Given the description of an element on the screen output the (x, y) to click on. 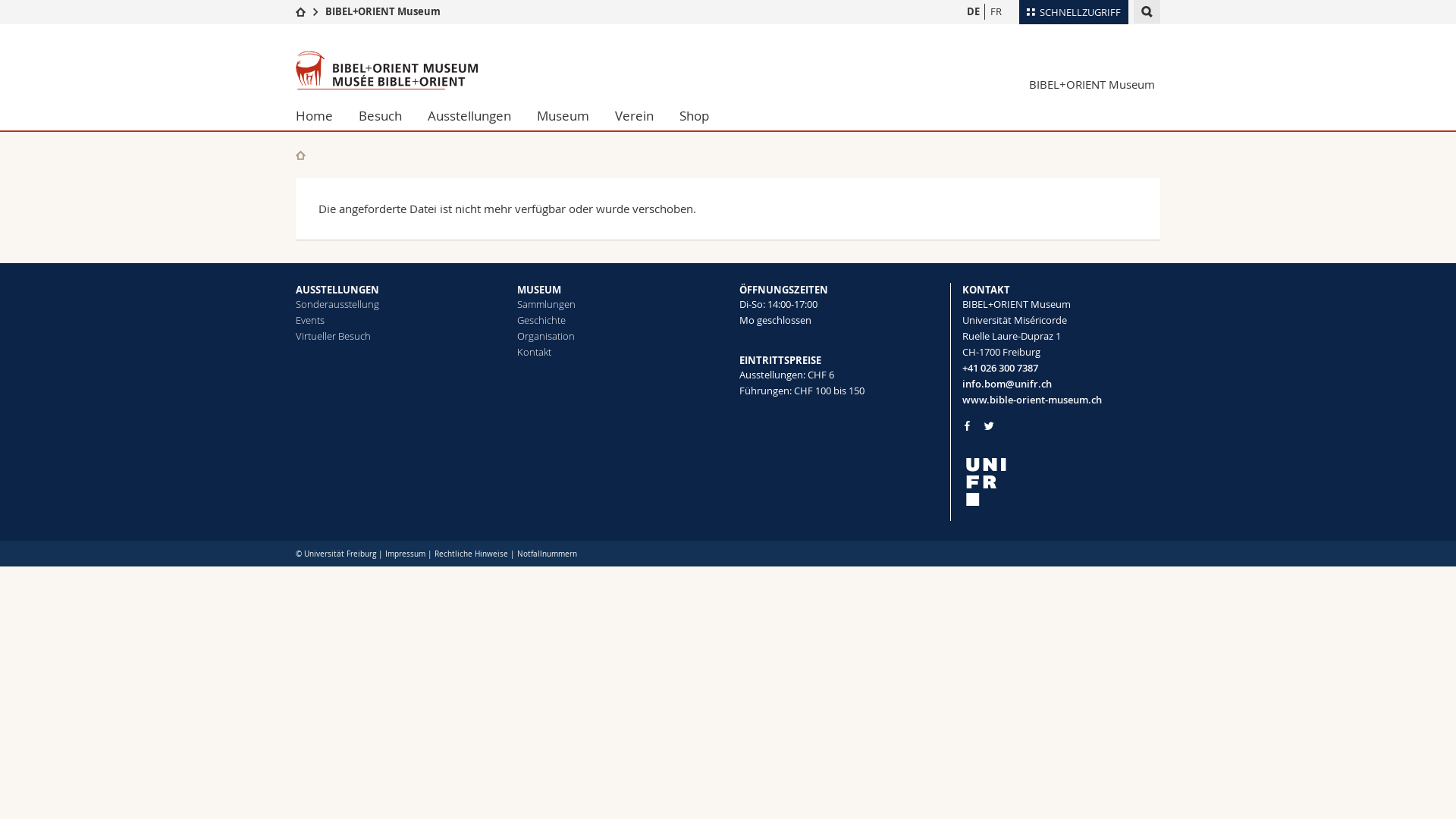
MUSEUM Element type: text (539, 289)
Geschichte Element type: text (541, 319)
FR Element type: text (995, 11)
Kontakt Element type: text (534, 351)
Notfallnummern Element type: text (547, 553)
Home Element type: text (320, 115)
AUSSTELLUNGEN Element type: text (337, 289)
Museum Element type: text (563, 115)
Sonderausstellung Element type: text (337, 303)
Impressum Element type: text (405, 553)
Rechtliche Hinweise Element type: text (471, 553)
Shop Element type: text (693, 115)
DE Element type: text (972, 11)
Verein Element type: text (634, 115)
Besuch Element type: text (379, 115)
Events Element type: text (309, 319)
Ausstellungen Element type: text (469, 115)
+41 026 300 7387 Element type: text (1060, 368)
BIBEL+ORIENT Museum Element type: text (1091, 83)
www.bible-orient-museum.ch Element type: text (1060, 399)
SCHNELLZUGRIFF Element type: text (1073, 12)
Organisation Element type: text (545, 335)
BIBEL+ORIENT Museum Element type: text (382, 11)
info.bom@unifr.ch Element type: text (1060, 384)
EINTRITTSPREISE Element type: text (780, 360)
Virtueller Besuch Element type: text (332, 335)
Sammlungen Element type: text (546, 303)
